Given the description of an element on the screen output the (x, y) to click on. 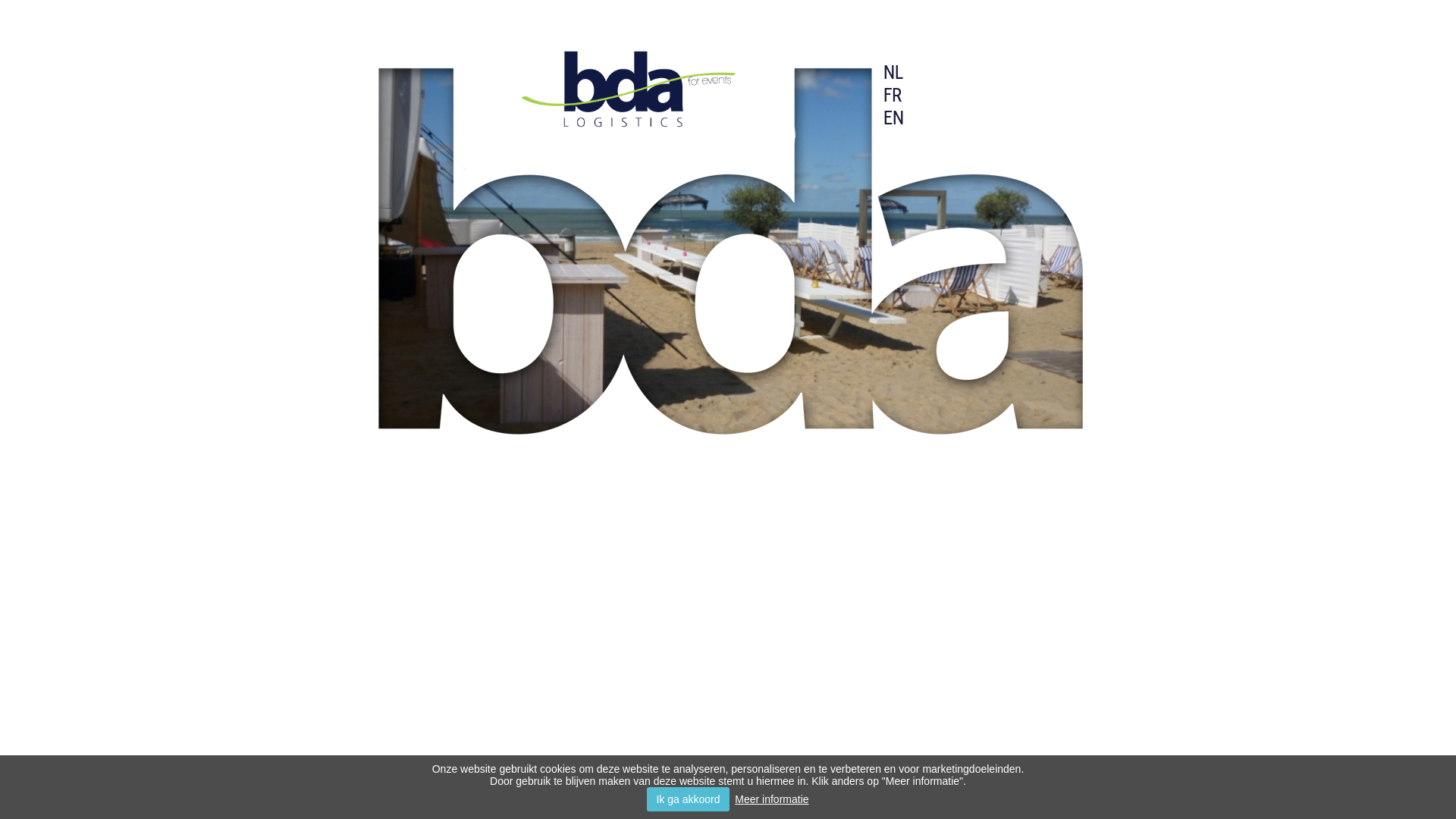
NL Element type: text (893, 71)
FR Element type: text (892, 94)
EN Element type: text (893, 117)
Ik ga akkoord Element type: text (687, 799)
Meer informatie Element type: text (771, 799)
